Given the description of an element on the screen output the (x, y) to click on. 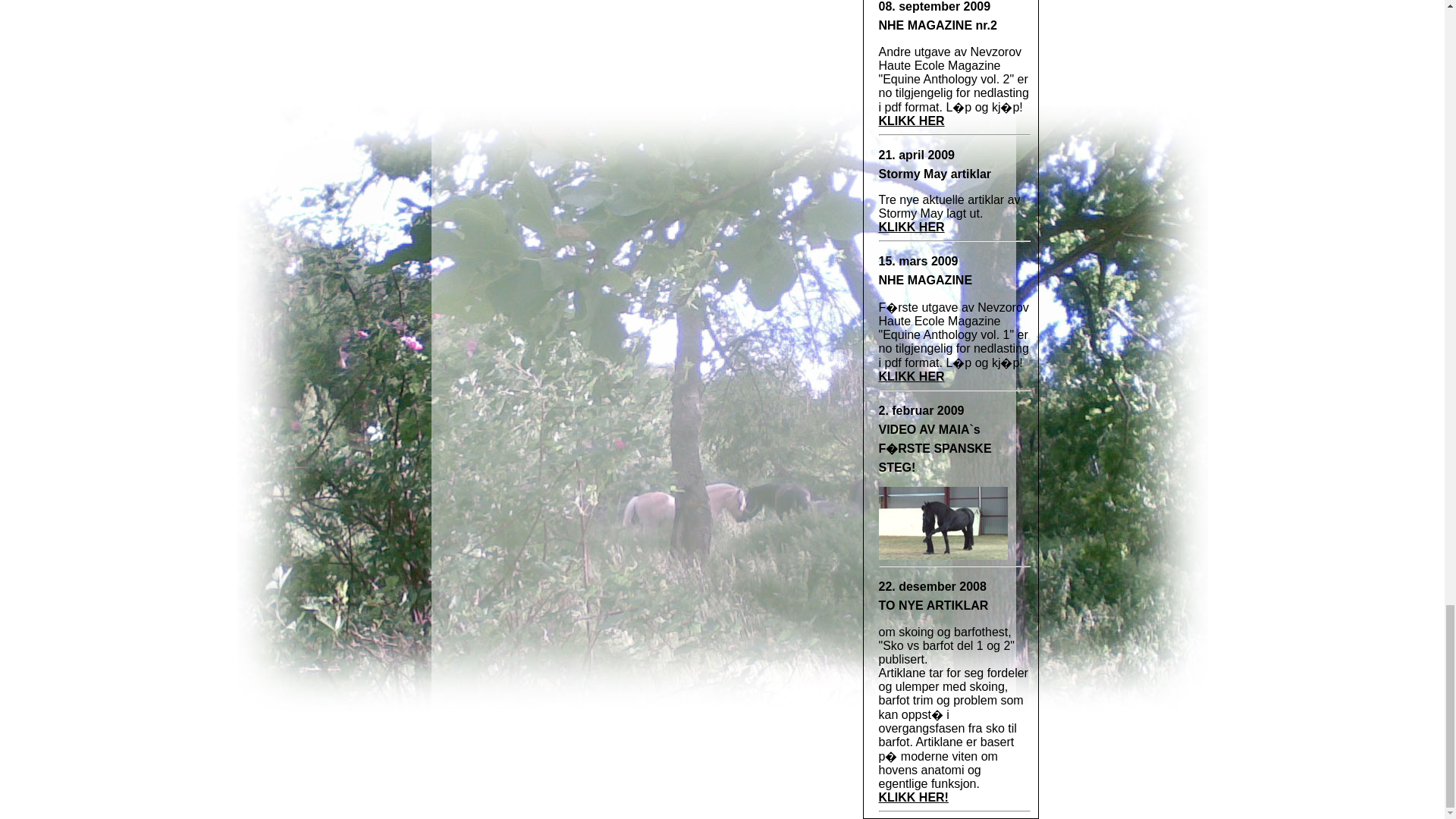
KLIKK HER! (912, 797)
KLIKK HER (910, 226)
KLIKK HER (910, 120)
KLIKK HER (910, 376)
